Given the description of an element on the screen output the (x, y) to click on. 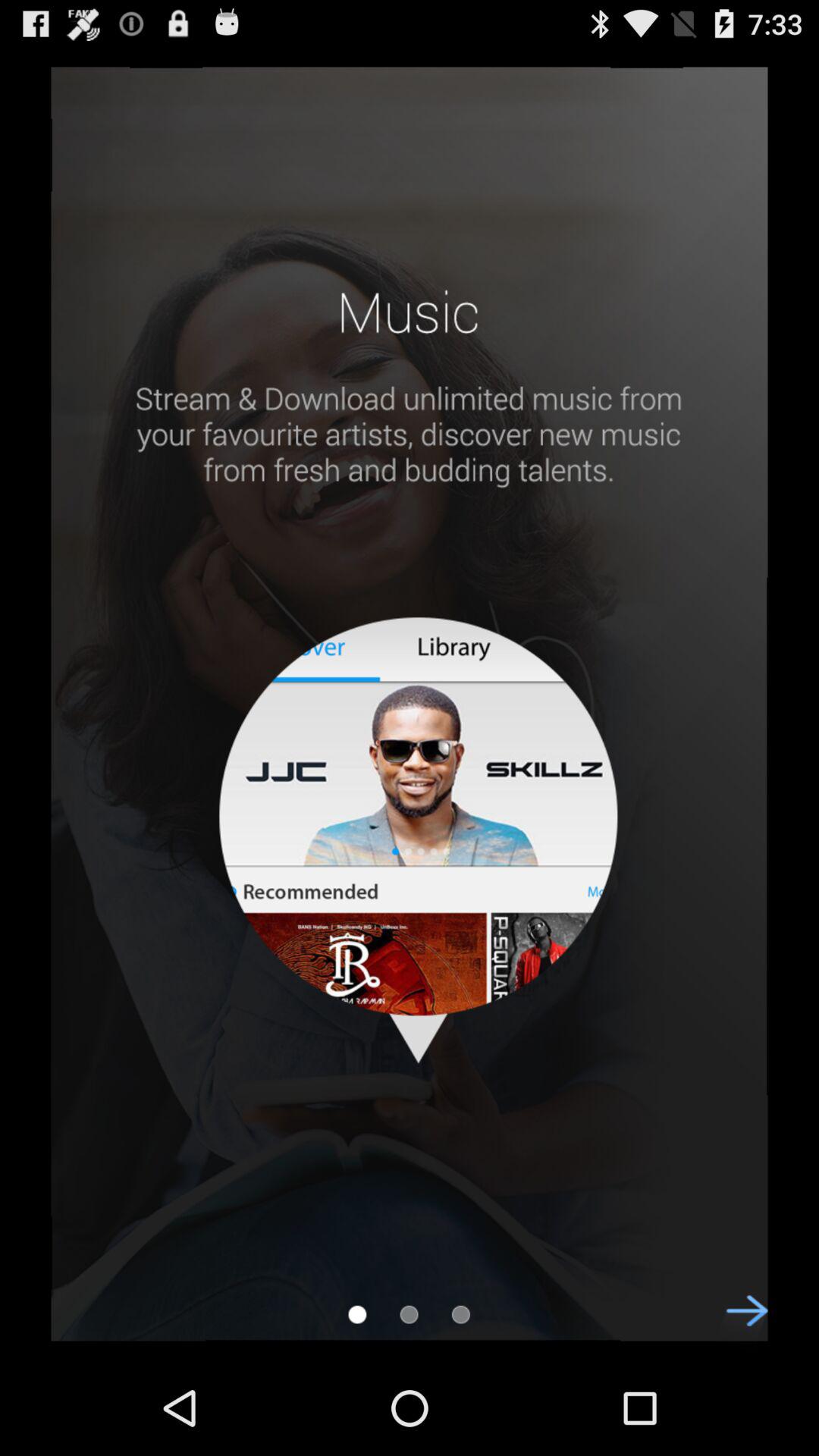
go to next (738, 1324)
